Given the description of an element on the screen output the (x, y) to click on. 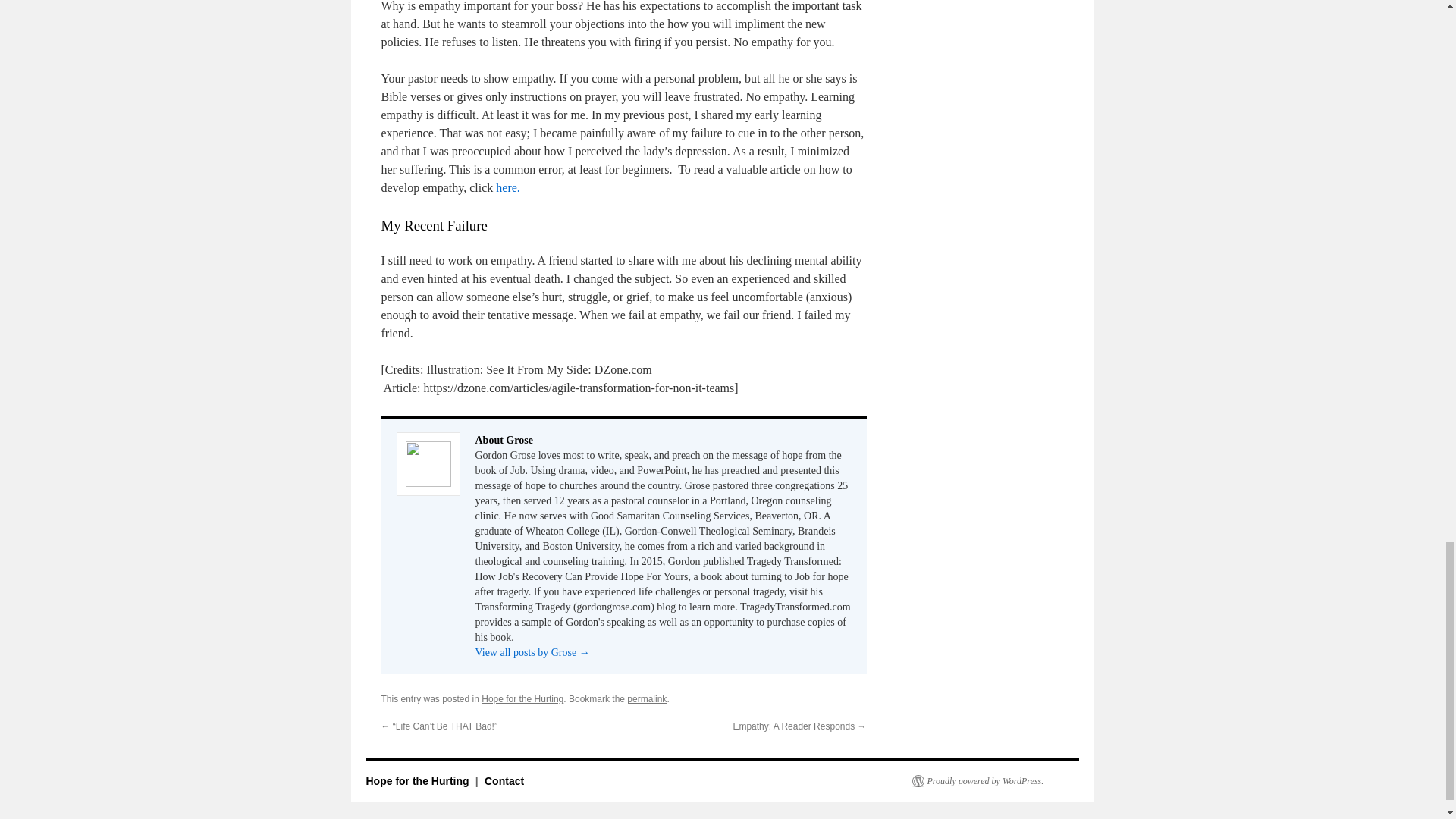
Hope for the Hurting (522, 698)
permalink (646, 698)
Semantic Personal Publishing Platform (977, 780)
here. (507, 187)
Hope for the Hurting (418, 780)
Permalink to Why Is Empathy Important? (646, 698)
Contact (504, 780)
Proudly powered by WordPress. (977, 780)
